Given the description of an element on the screen output the (x, y) to click on. 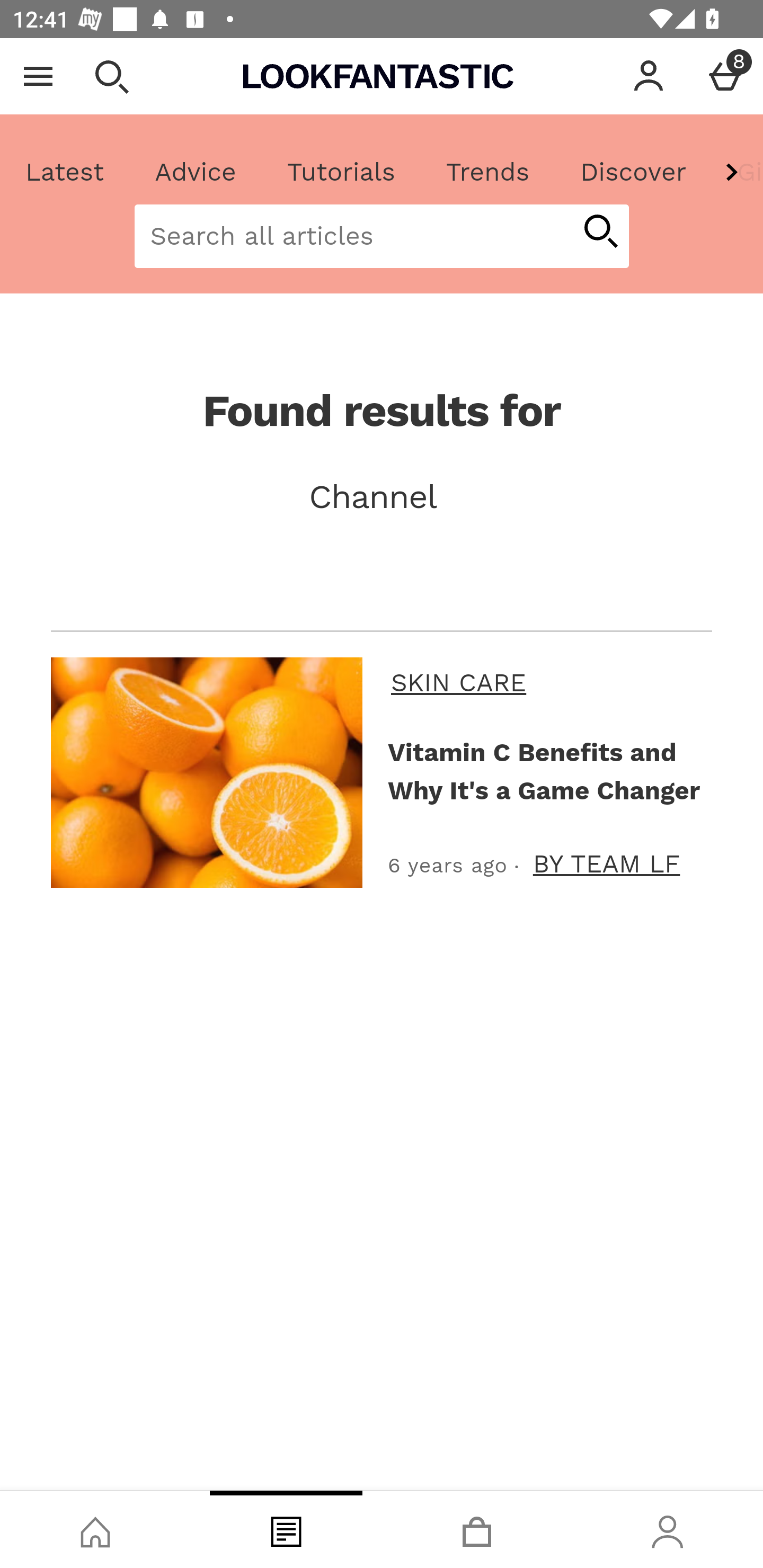
Open Menu (38, 75)
Open search (111, 75)
Account (648, 75)
Basket Menu (724, 75)
Latest (65, 172)
Advice (195, 172)
Tutorials (340, 172)
Trends (486, 172)
Discover (632, 172)
Gift Guide (736, 172)
start article search (599, 232)
Channel (381, 496)
SKIN CARE (547, 682)
Vitamin C Benefits and Why It's a Game Changer (546, 771)
BY TEAM LF (606, 863)
Shop, tab, 1 of 4 (95, 1529)
Blog, tab, 2 of 4 (285, 1529)
Basket, tab, 3 of 4 (476, 1529)
Account, tab, 4 of 4 (667, 1529)
